Given the description of an element on the screen output the (x, y) to click on. 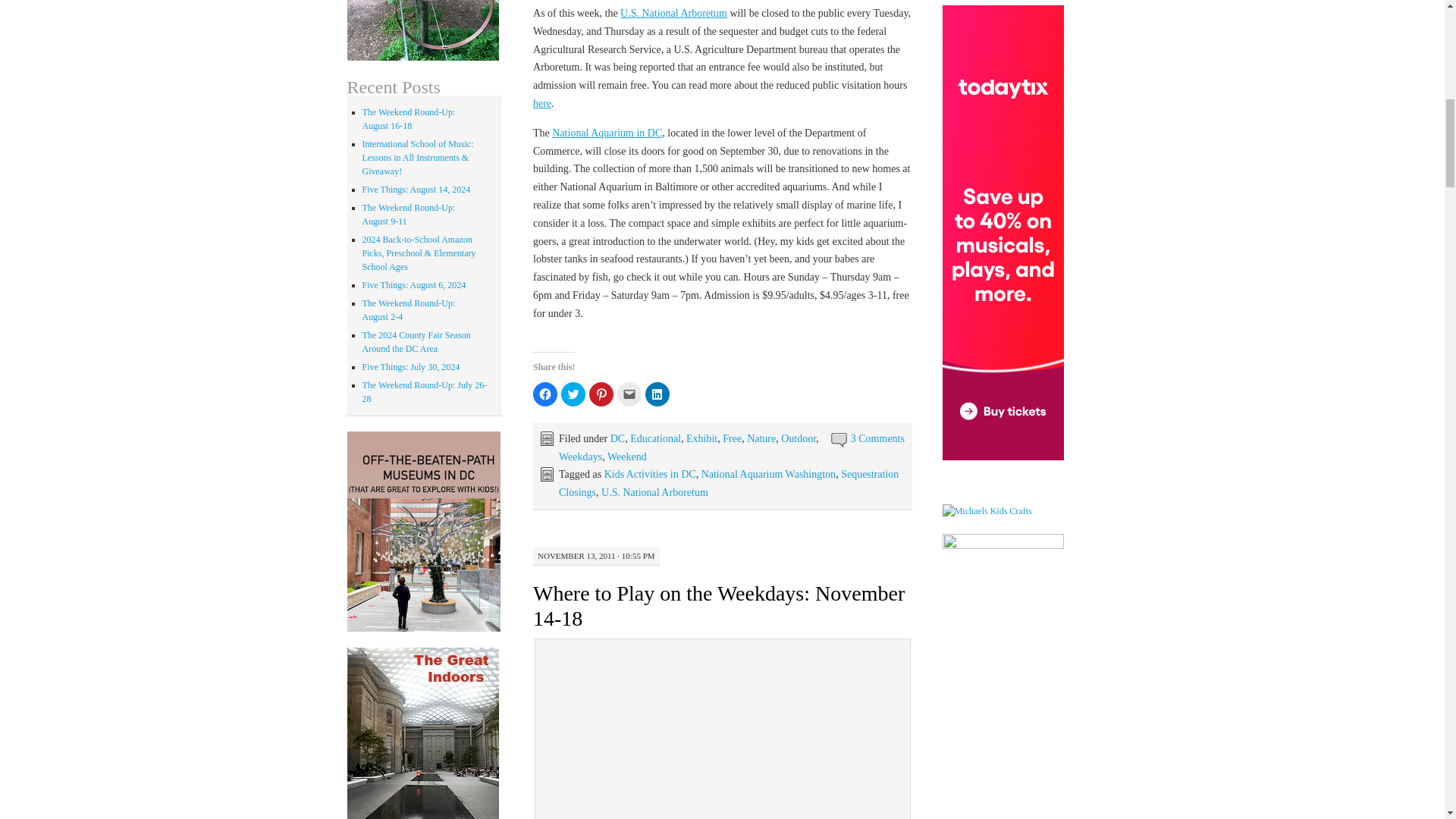
Click to share on Facebook (544, 394)
Click to share on Twitter (572, 394)
Click to email this to a friend (629, 394)
Click to share on Pinterest (600, 394)
Click to share on LinkedIn (657, 394)
